Given the description of an element on the screen output the (x, y) to click on. 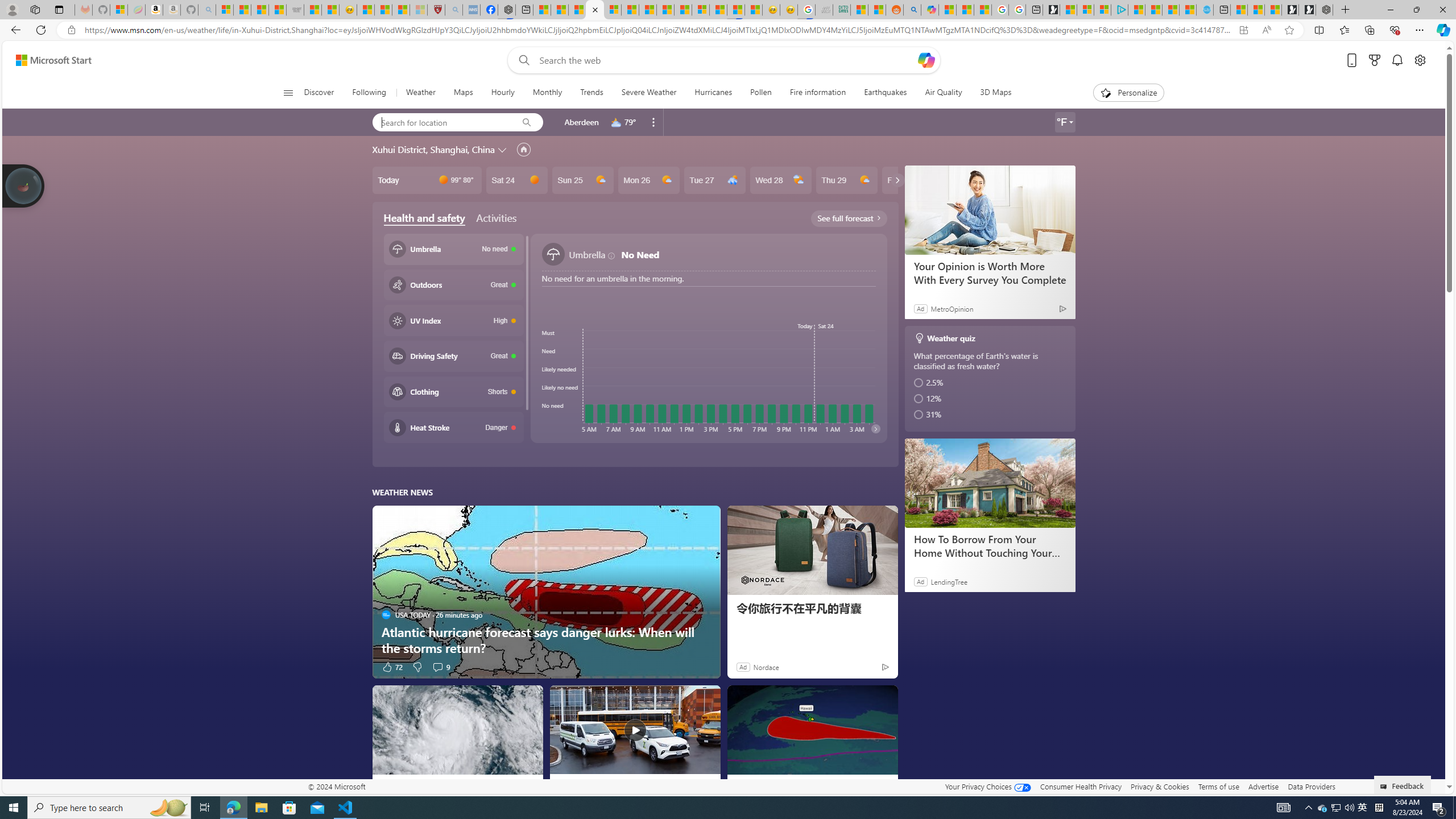
Your Opinion is Worth More With Every Survey You Complete (989, 209)
Privacy & Cookies (1160, 786)
Earthquakes (885, 92)
Trends (590, 92)
Following (368, 92)
Change location (503, 149)
next (875, 428)
Mon 26 (648, 180)
MSN (735, 9)
Air Quality (943, 92)
View comments 9 Comment (440, 666)
